Given the description of an element on the screen output the (x, y) to click on. 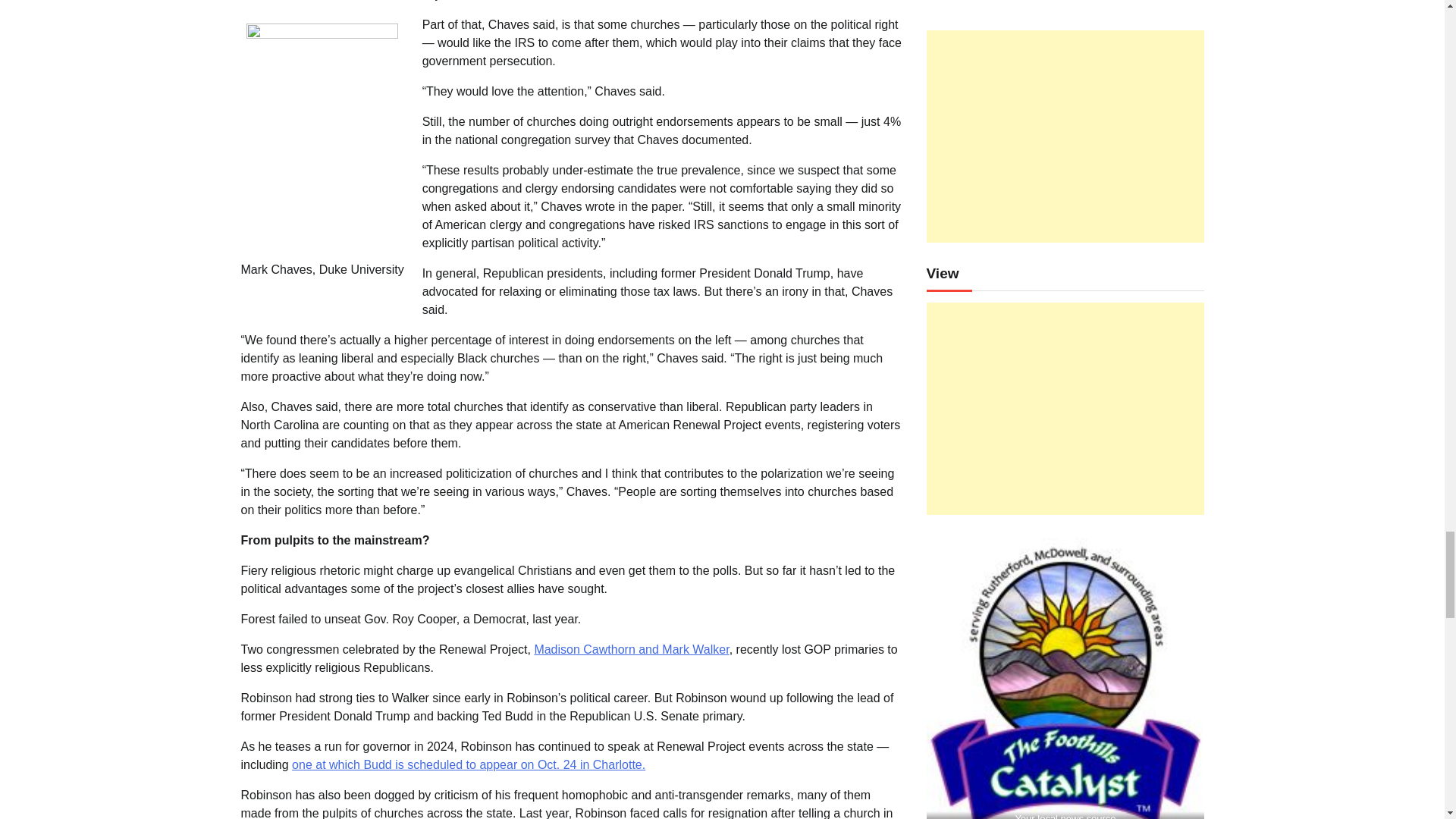
Madison Cawthorn and Mark Walker (631, 649)
